Given the description of an element on the screen output the (x, y) to click on. 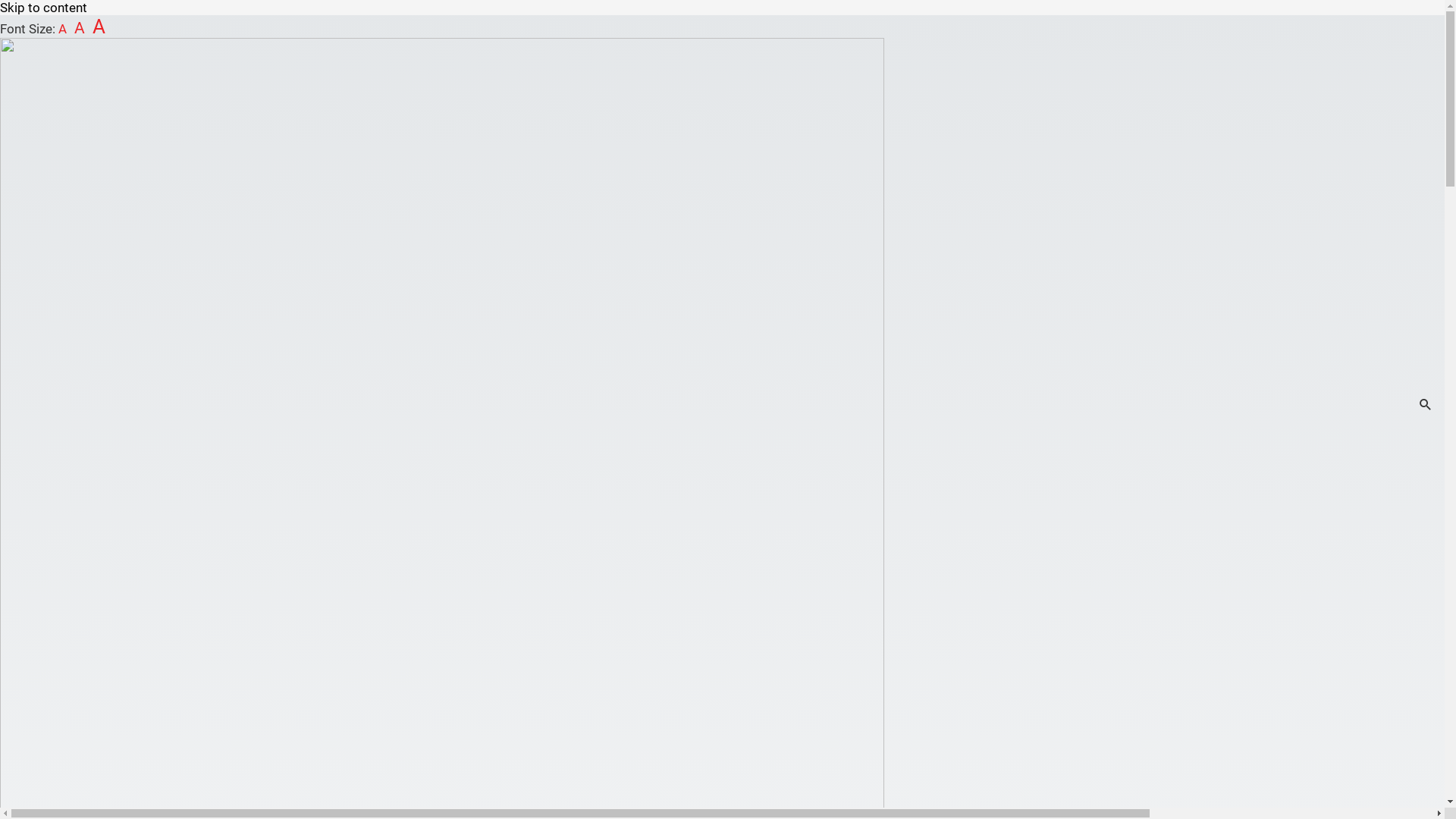
Skip to content Element type: text (43, 7)
A Element type: text (79, 27)
A Element type: text (62, 28)
A Element type: text (98, 26)
